Given the description of an element on the screen output the (x, y) to click on. 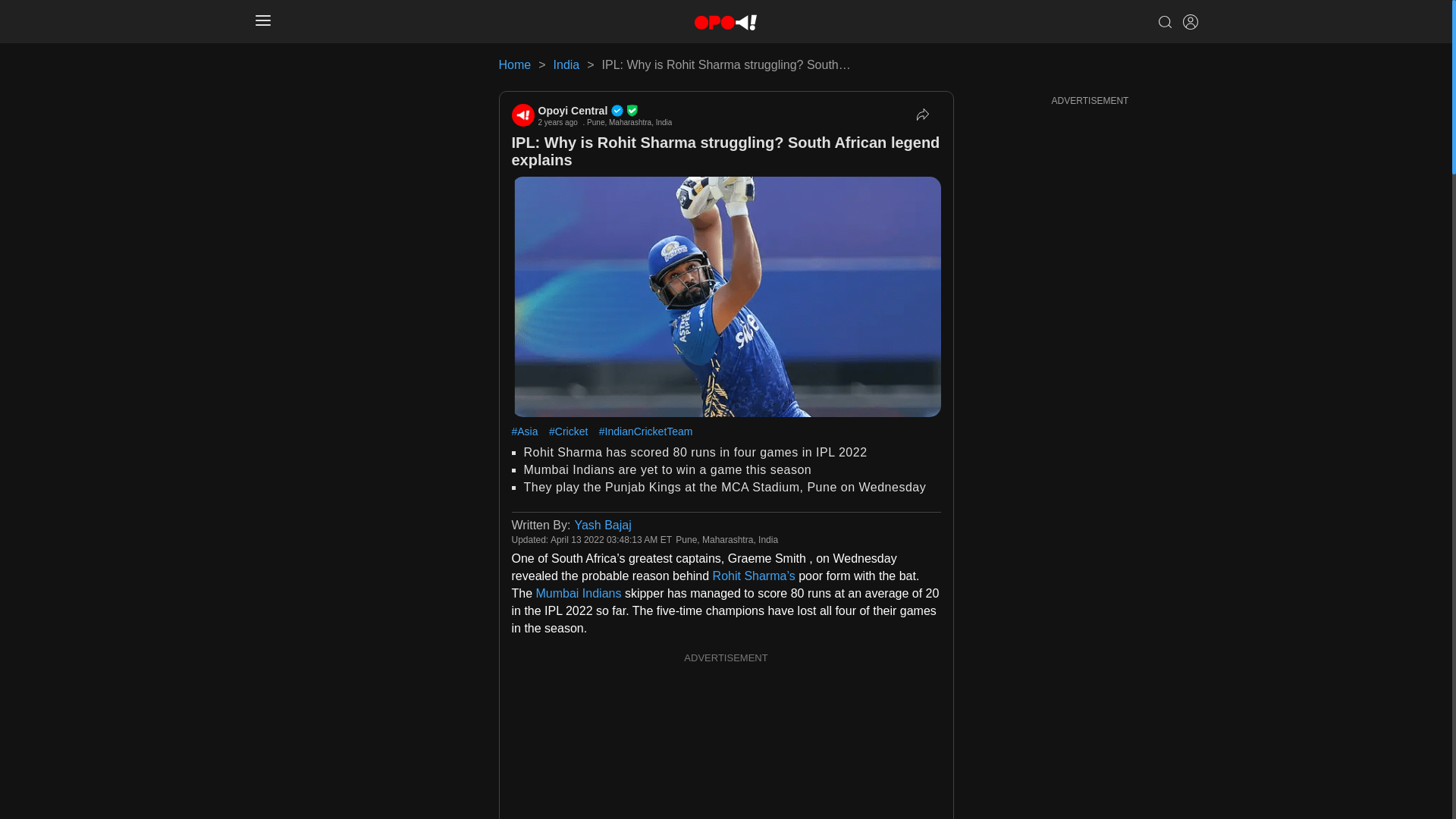
Opoyi Central (605, 110)
Opoyi Central (605, 110)
Yash Bajaj (601, 524)
 Opoyi Central (522, 115)
India (566, 64)
Home (515, 64)
